Given the description of an element on the screen output the (x, y) to click on. 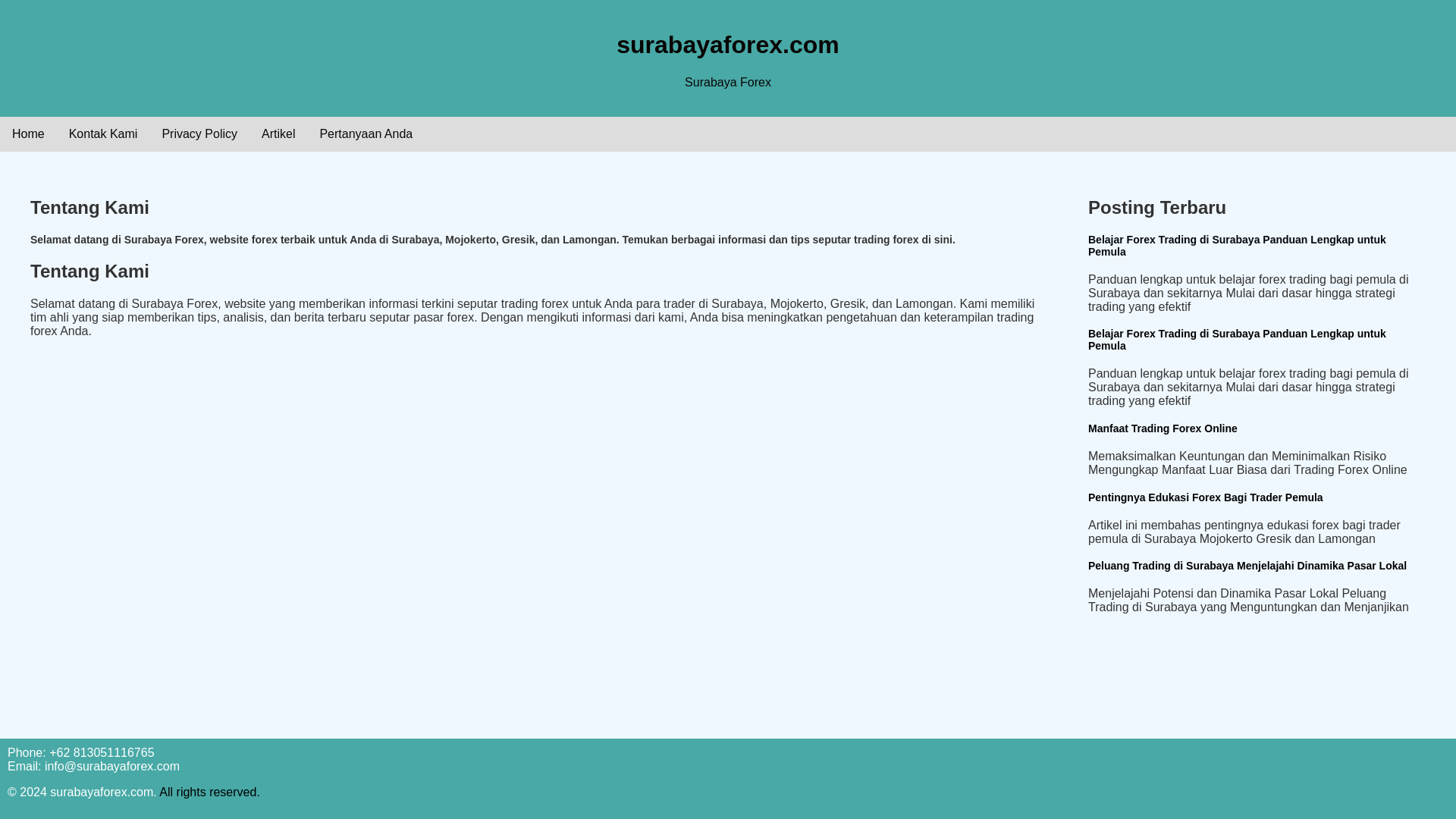
Home (28, 134)
Kontak Kami (102, 134)
All rights reserved. (209, 791)
Pentingnya Edukasi Forex Bagi Trader Pemula (1205, 497)
Surabaya Forex (727, 82)
Pertanyaan Anda (366, 134)
Manfaat Trading Forex Online (1162, 428)
High Reputation Website (209, 791)
Artikel (277, 134)
surabayaforex.com (726, 44)
Privacy Policy (198, 134)
Peluang Trading di Surabaya Menjelajahi Dinamika Pasar Lokal (1246, 565)
